Given the description of an element on the screen output the (x, y) to click on. 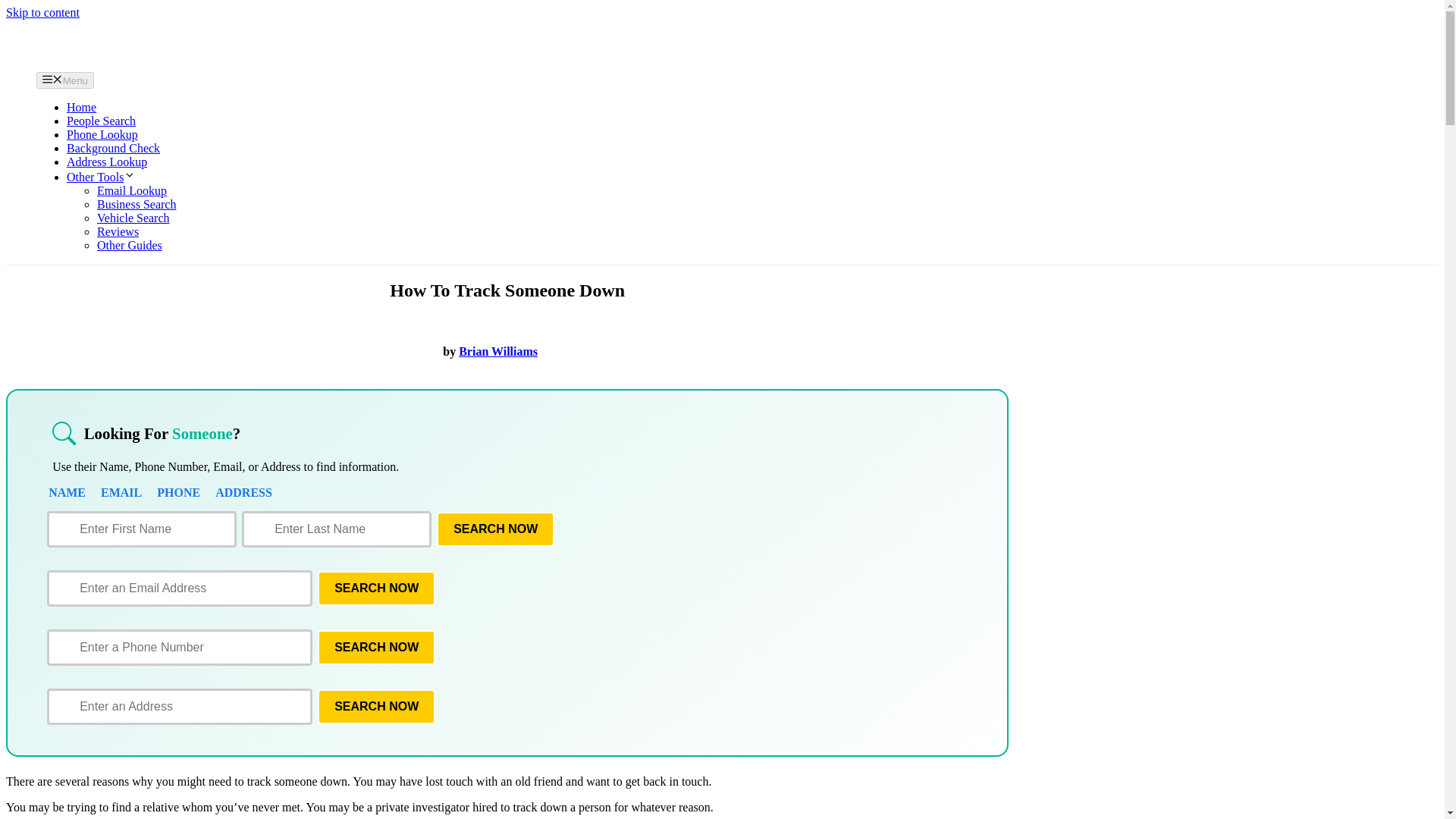
Home (81, 106)
People Search (100, 120)
Business Search (136, 204)
SEARCH NOW (376, 588)
Phone Lookup (102, 133)
Menu (65, 80)
Other Tools (100, 176)
Brian Williams (497, 350)
Other Guides (129, 245)
Address Lookup (106, 161)
SEARCH NOW (376, 706)
Background Check (113, 147)
DOBSearch.com (138, 43)
Vehicle Search (133, 217)
SEARCH NOW (495, 529)
